Given the description of an element on the screen output the (x, y) to click on. 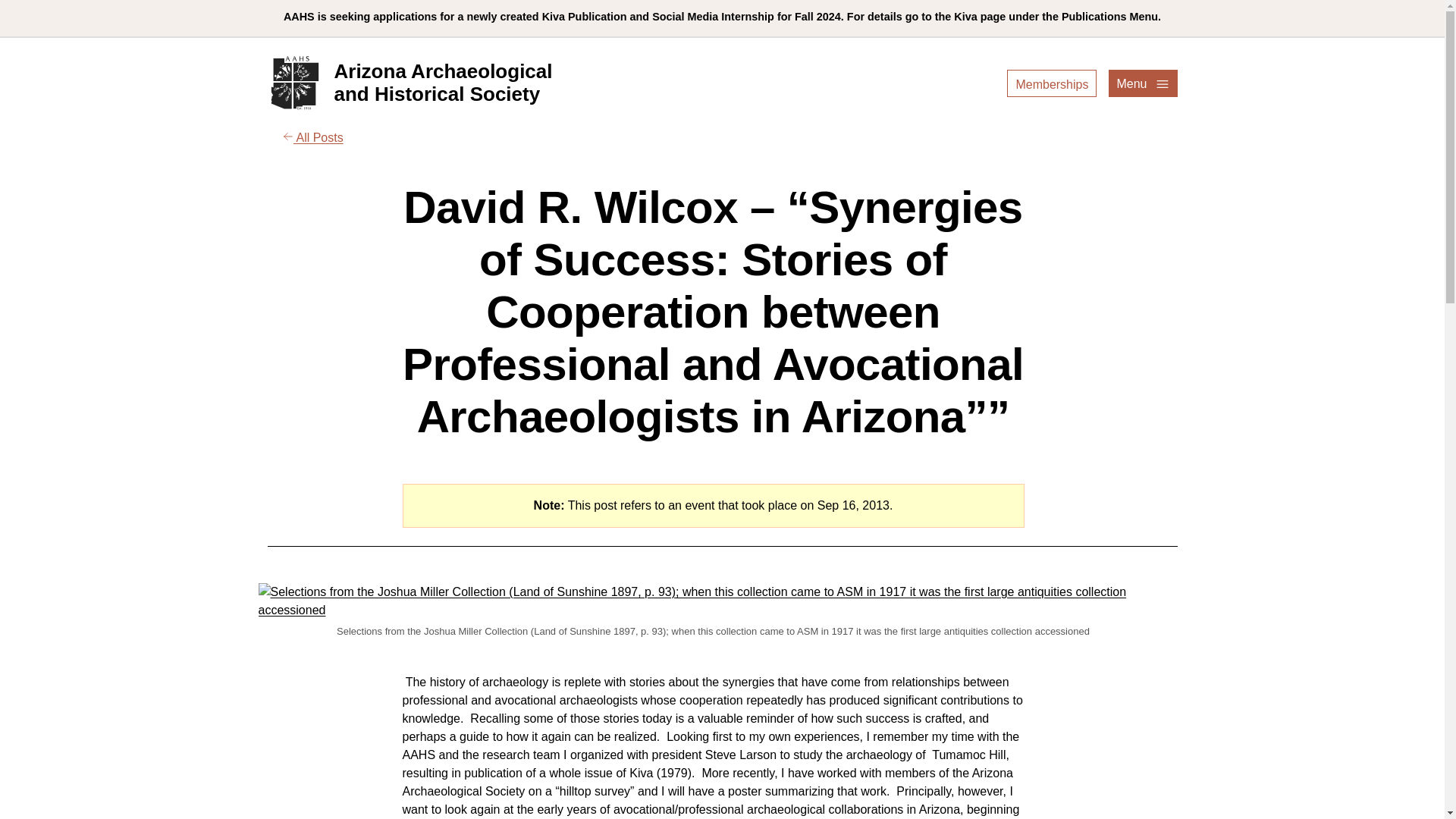
Memberships (408, 83)
Memberships (1050, 84)
Memberships (1050, 84)
Menu (1051, 83)
